Given the description of an element on the screen output the (x, y) to click on. 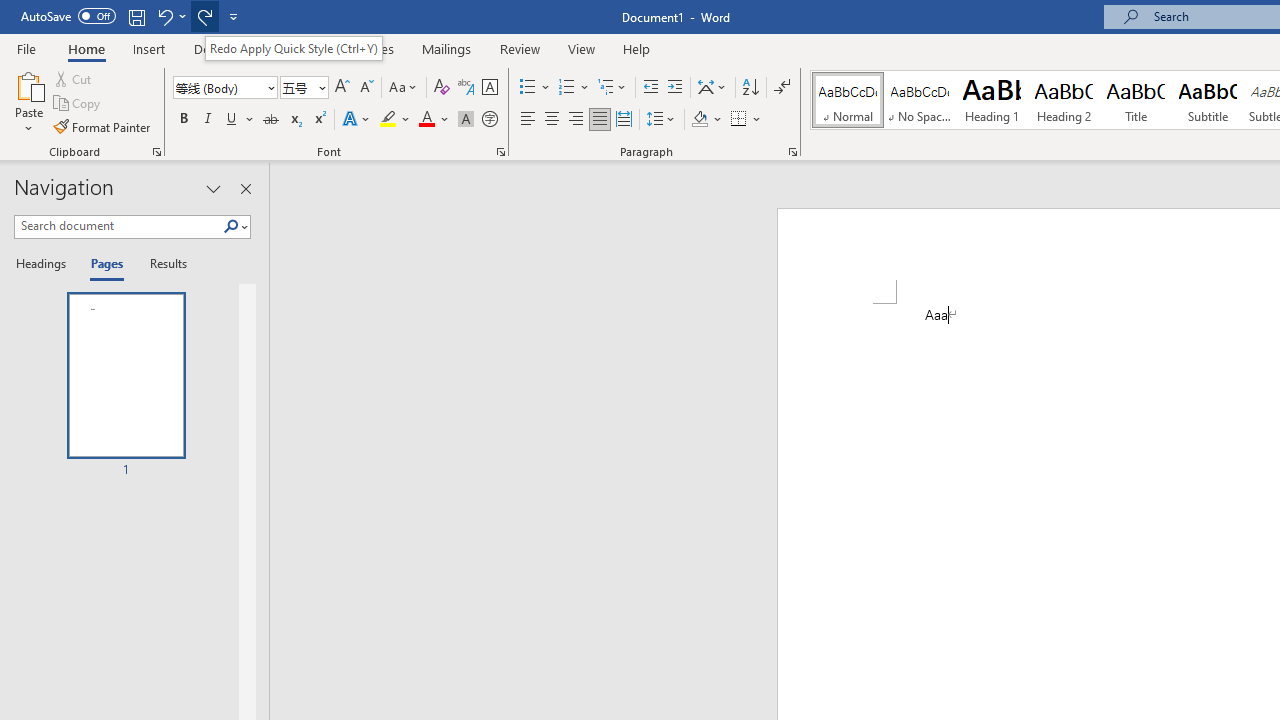
Title (1135, 100)
Heading 1 (991, 100)
